Given the description of an element on the screen output the (x, y) to click on. 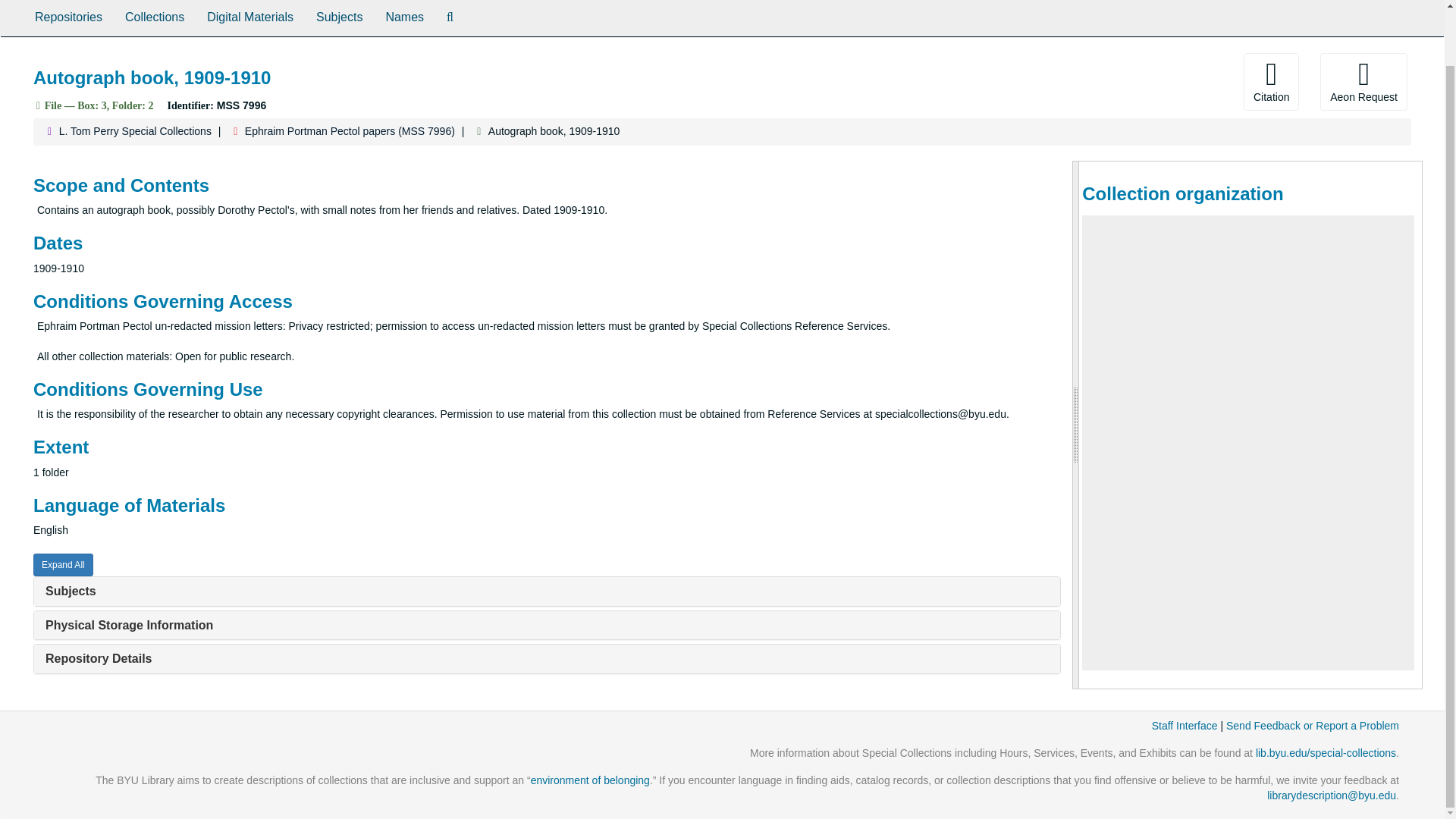
Send Feedback or Report a Problem (1312, 725)
Citation (1270, 81)
L. Tom Perry Special Collections (135, 131)
Subjects (339, 18)
Expand All (63, 564)
Subjects (70, 590)
Digital Materials (249, 18)
Names (404, 18)
Collections (154, 18)
Repository Details (98, 658)
Physical Storage Information (128, 625)
Page Actions (1130, 81)
Staff Interface (1184, 725)
environment of belonging (590, 779)
Aeon Request (1363, 81)
